Given the description of an element on the screen output the (x, y) to click on. 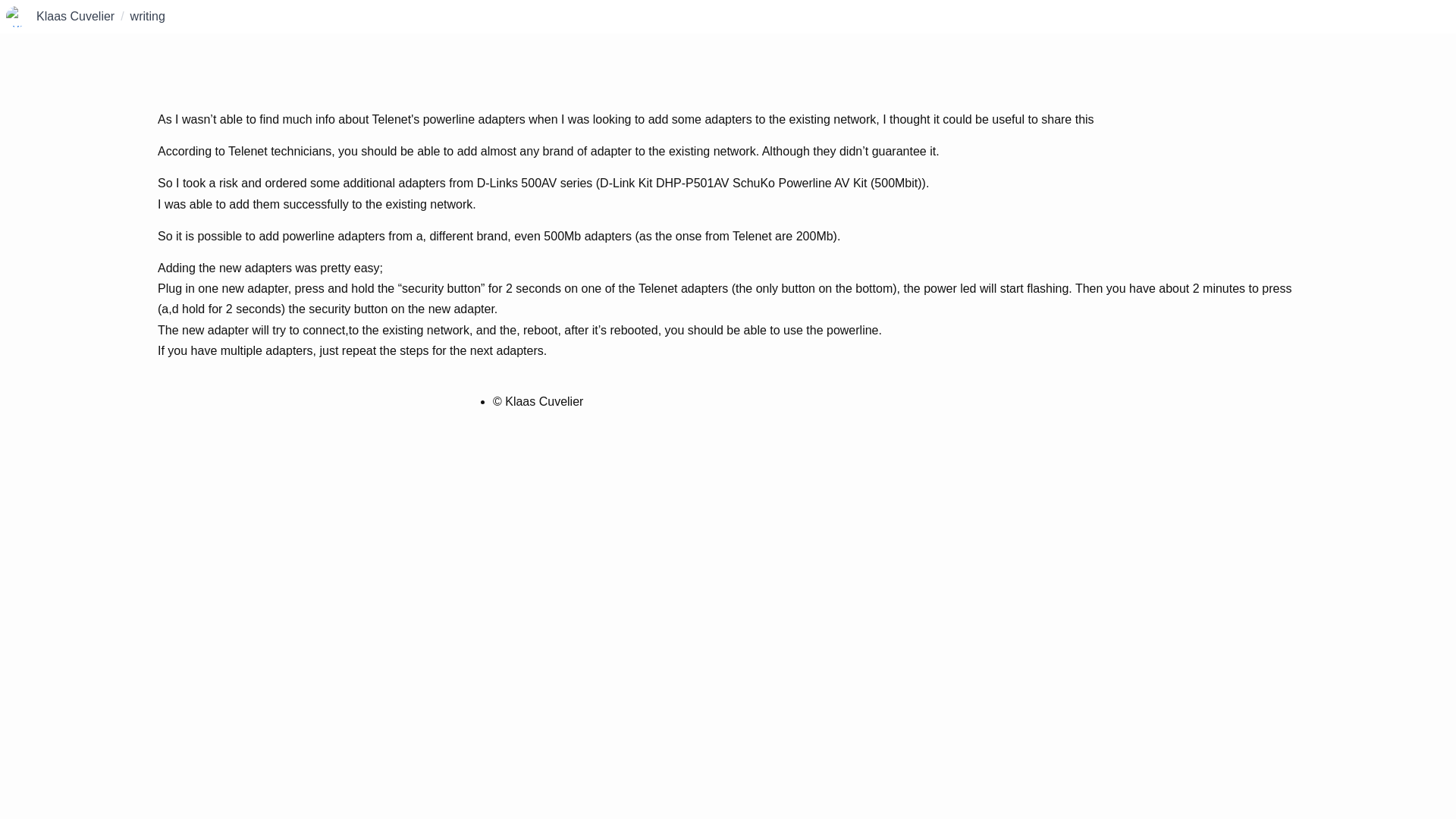
Klaas Cuvelier (75, 15)
